Given the description of an element on the screen output the (x, y) to click on. 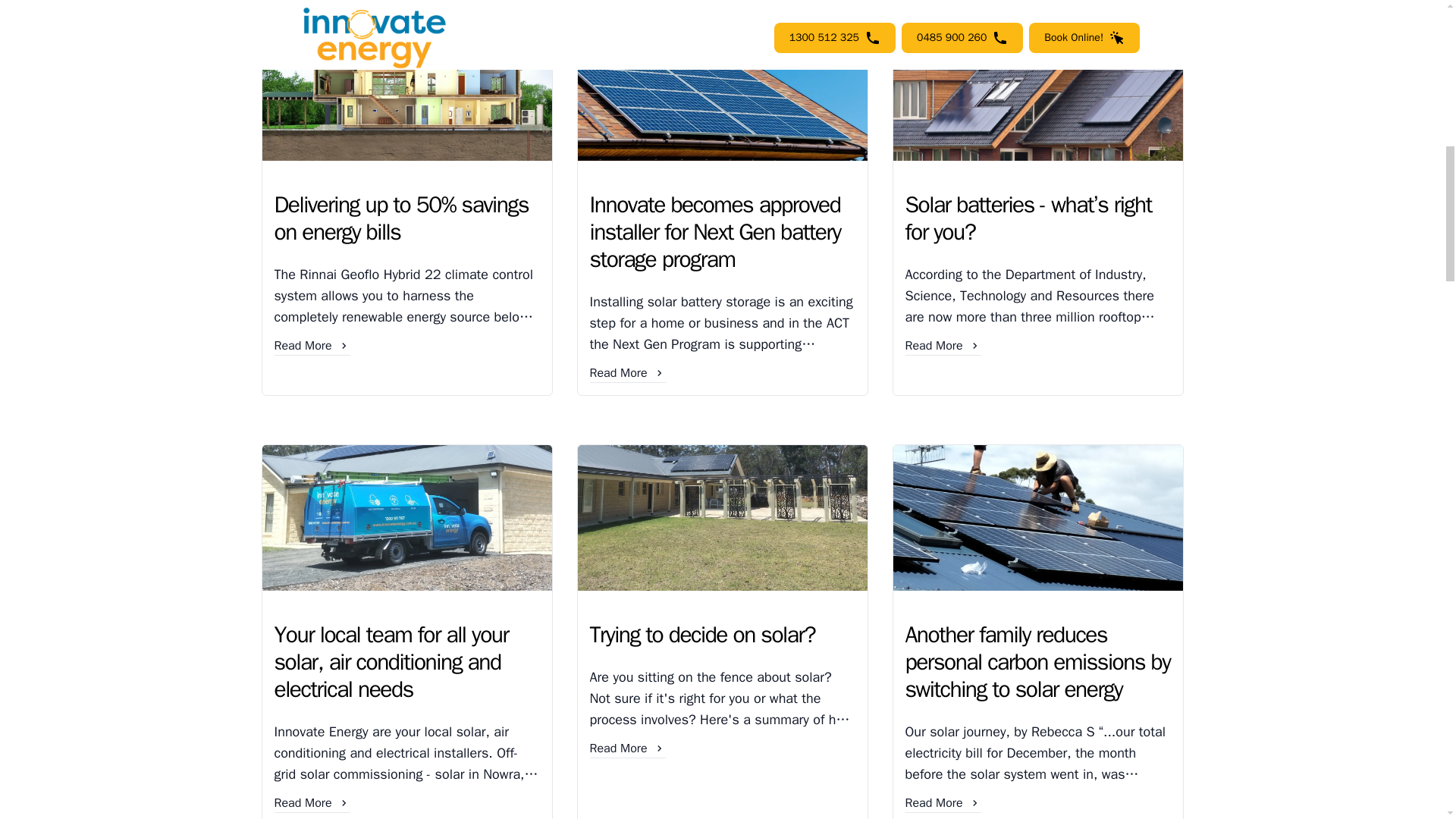
Trying to decide on solar? (721, 631)
